Given the description of an element on the screen output the (x, y) to click on. 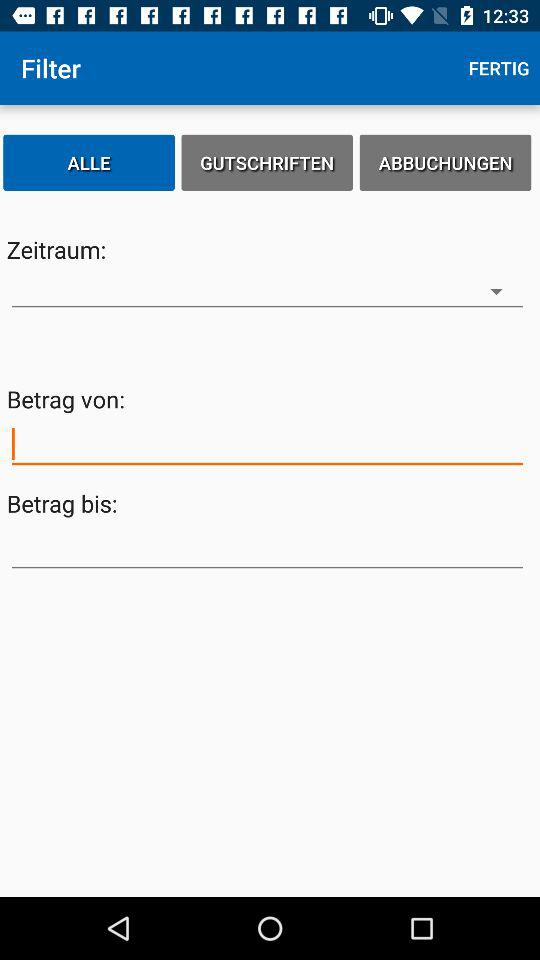
open icon above the abbuchungen item (499, 67)
